Given the description of an element on the screen output the (x, y) to click on. 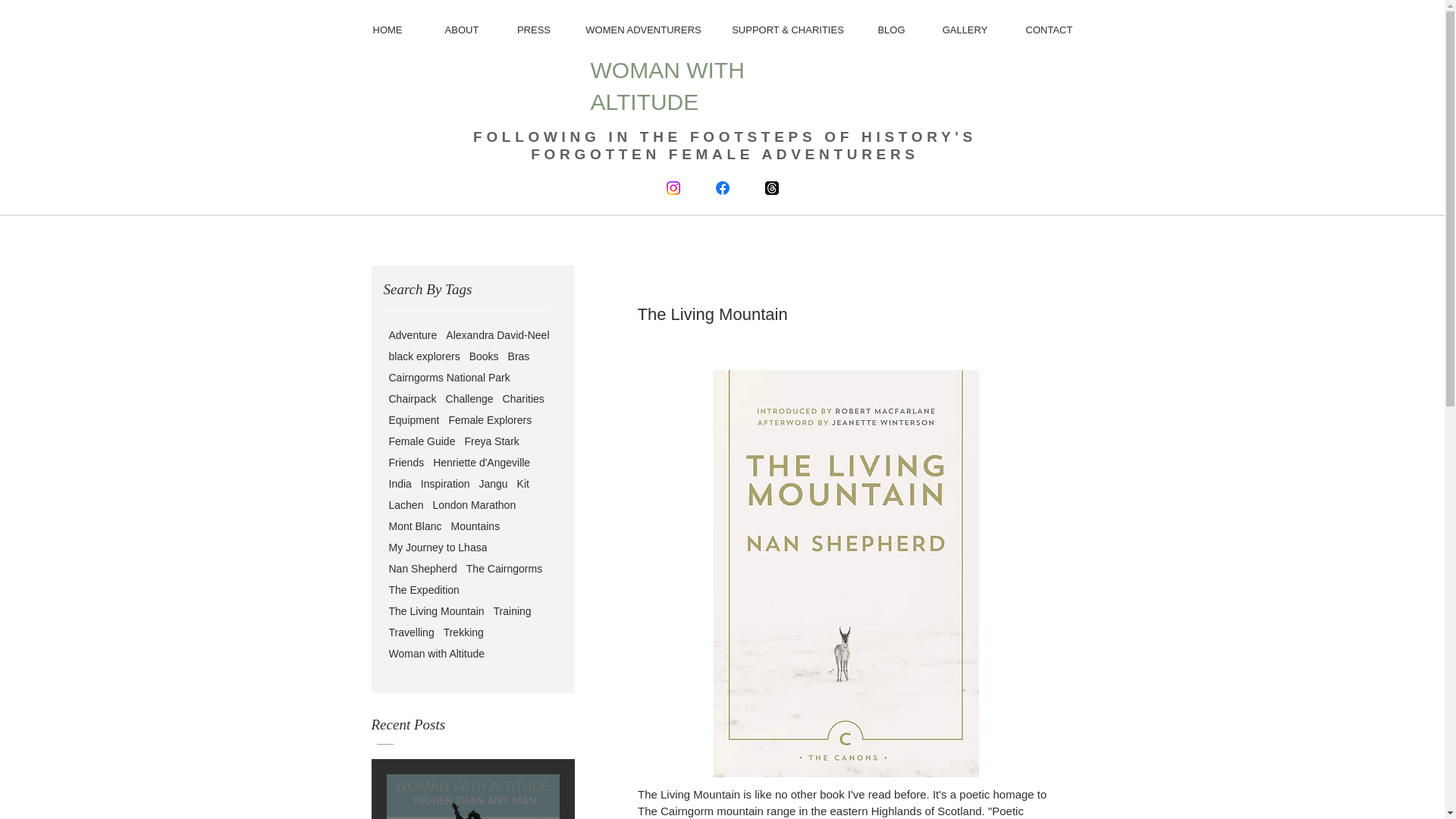
Charities (523, 398)
Nan Shepherd (422, 568)
Friends (405, 462)
FOLLOWING IN THE FOOTSTEPS  (648, 136)
GALLERY (964, 29)
ABOUT (462, 29)
Female Guide (421, 440)
Jangu (492, 483)
London Marathon (473, 504)
My Journey to Lhasa (437, 547)
